Given the description of an element on the screen output the (x, y) to click on. 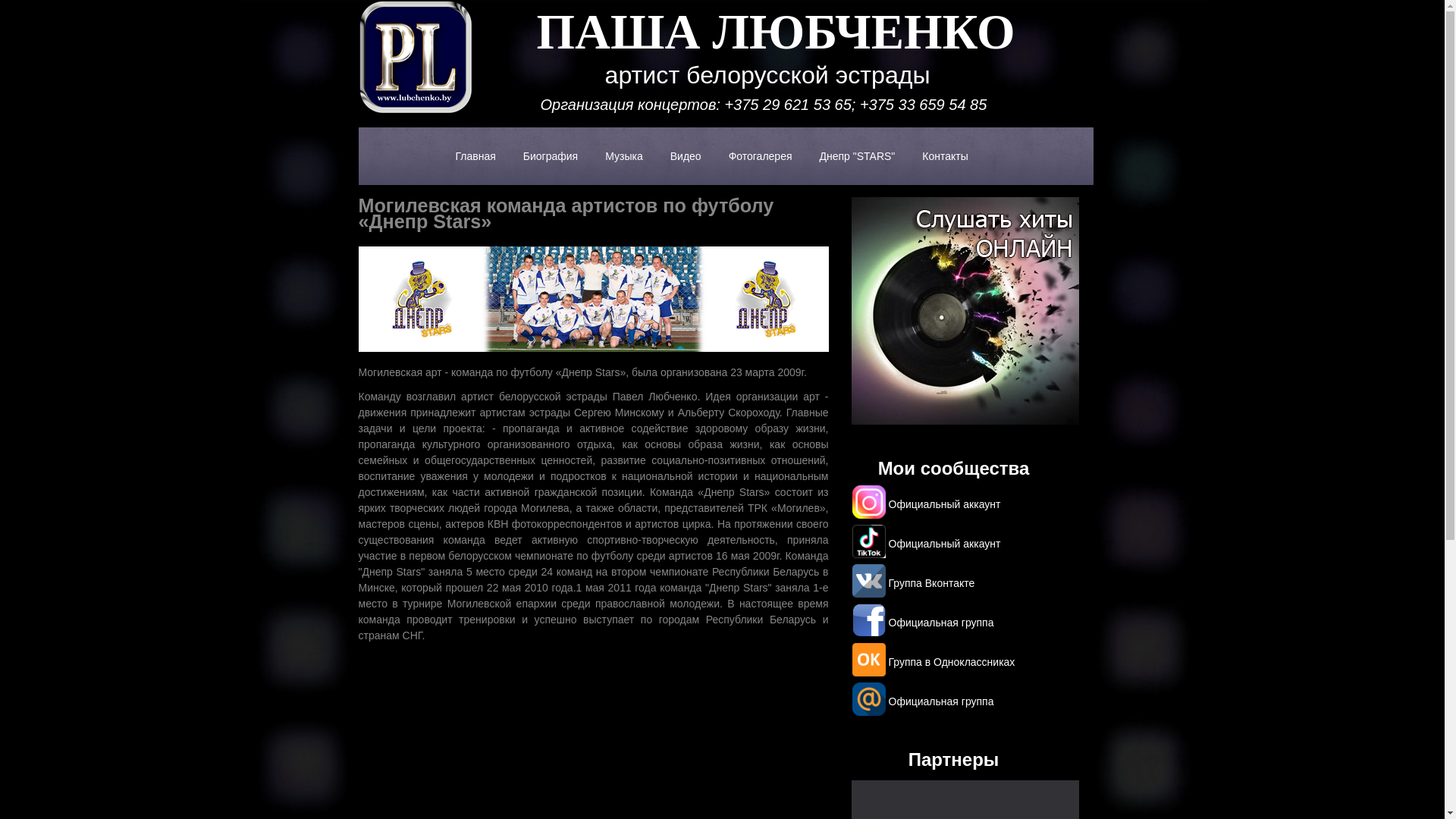
Home page Element type: hover (414, 109)
